Given the description of an element on the screen output the (x, y) to click on. 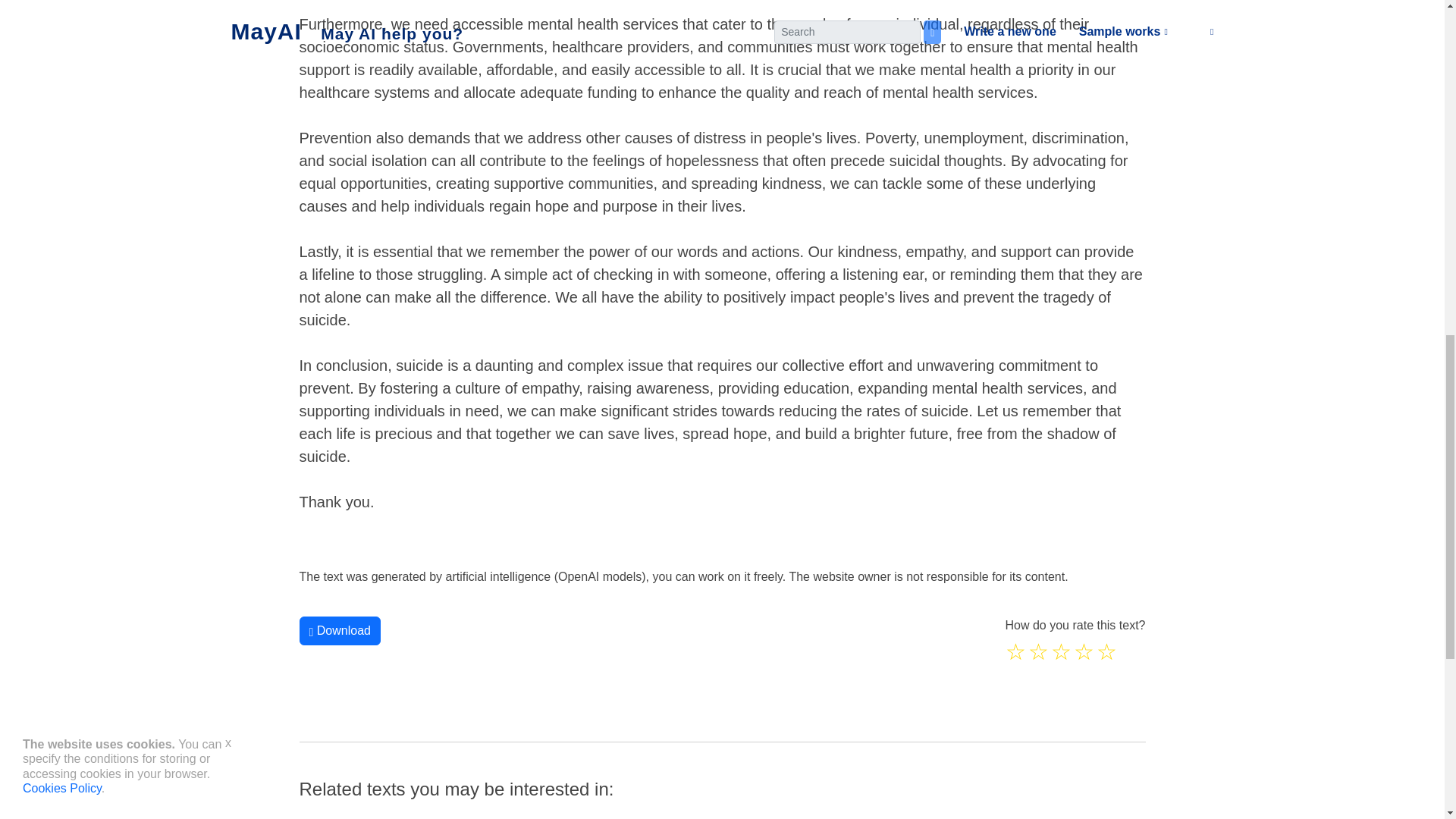
Download (339, 630)
